Given the description of an element on the screen output the (x, y) to click on. 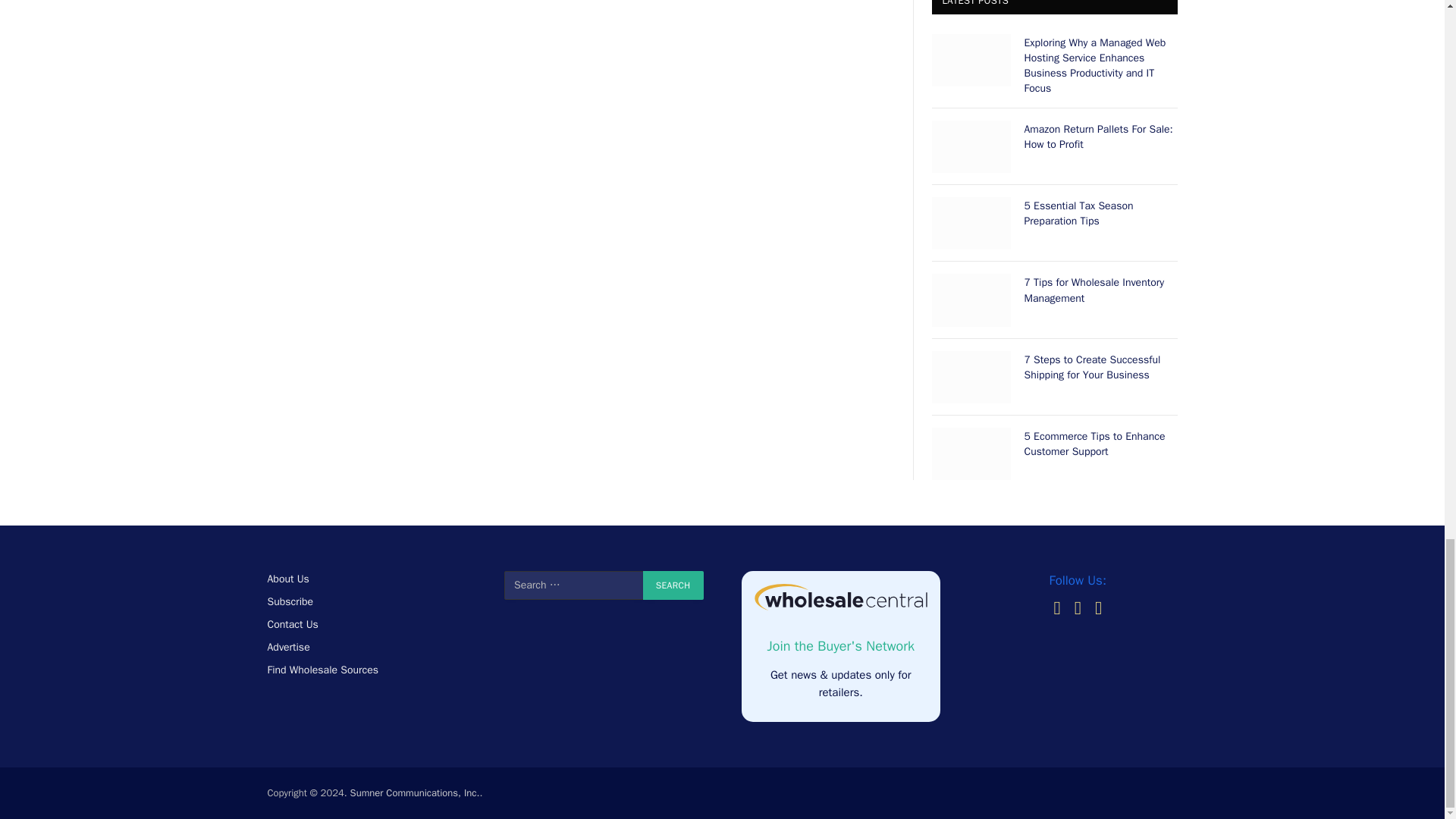
Search (673, 584)
Search (673, 584)
